Given the description of an element on the screen output the (x, y) to click on. 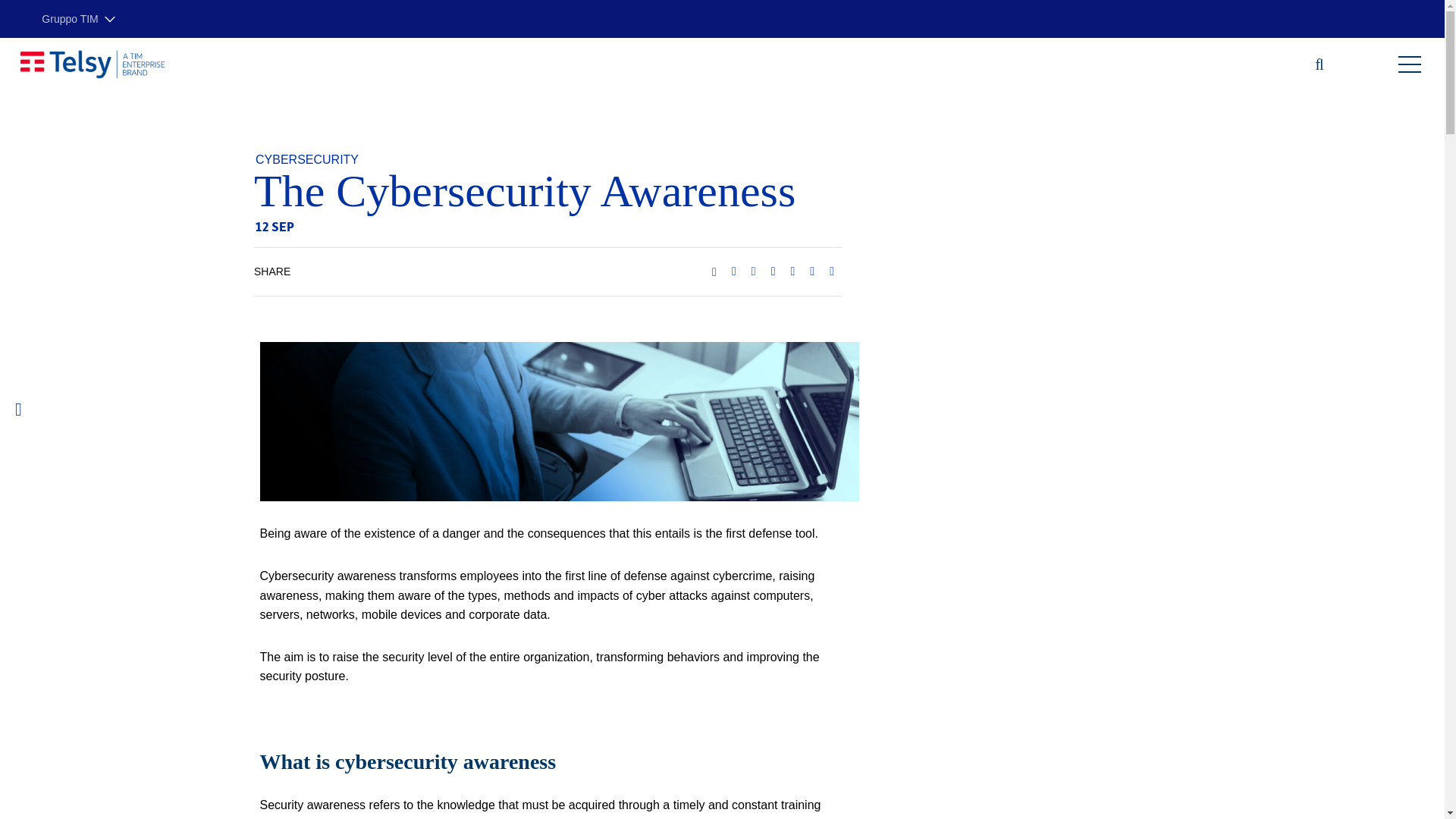
Cerca (1311, 64)
CYBERSECURITY (307, 159)
Gruppo TIM (78, 19)
